Given the description of an element on the screen output the (x, y) to click on. 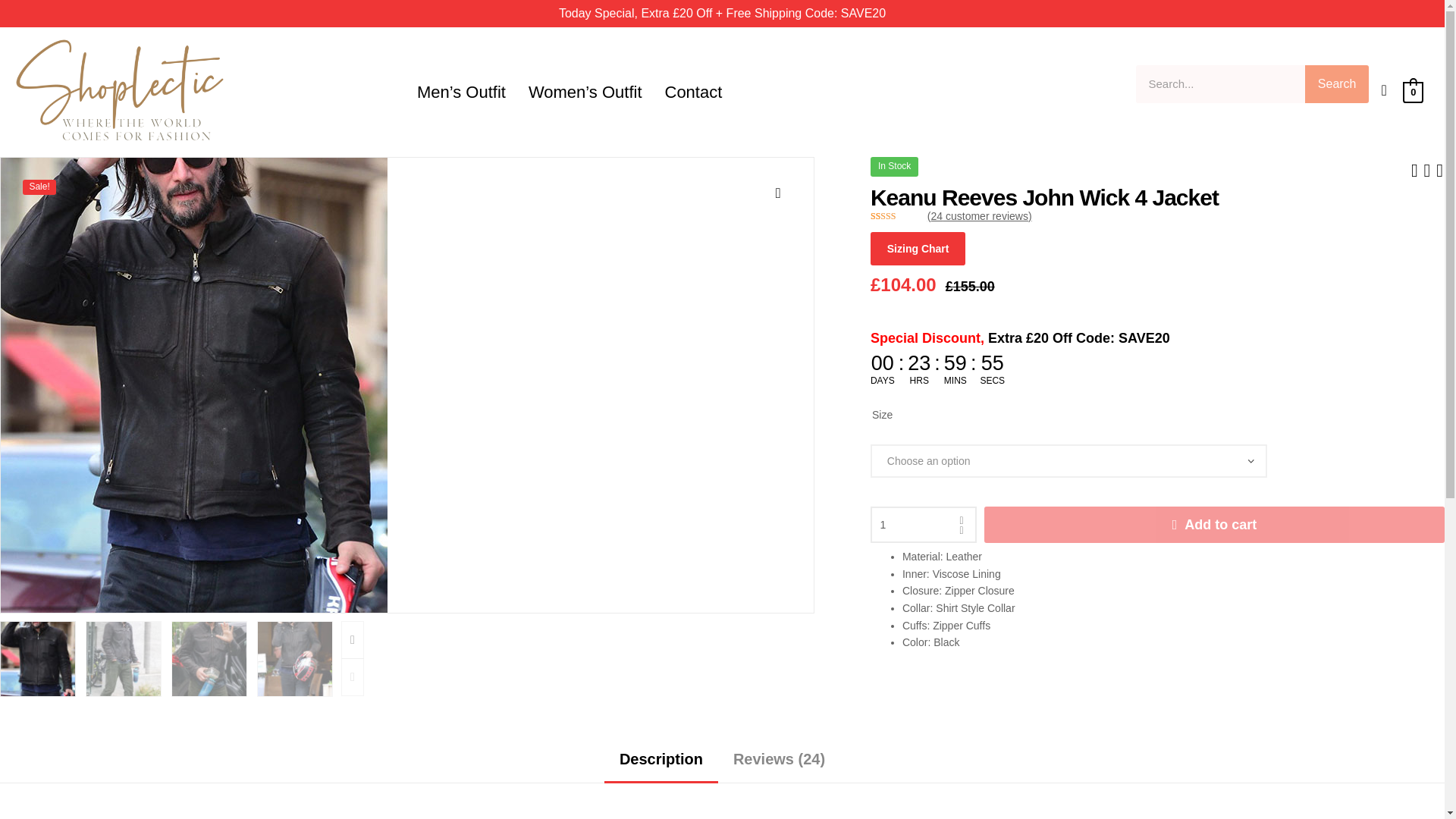
Contact (693, 92)
View your shopping cart (1413, 91)
Next (352, 639)
Search (1336, 84)
Sizing Chart (917, 248)
Description (660, 764)
Back to shop (1427, 168)
Previous (352, 677)
1 (923, 524)
0 (1413, 91)
